Given the description of an element on the screen output the (x, y) to click on. 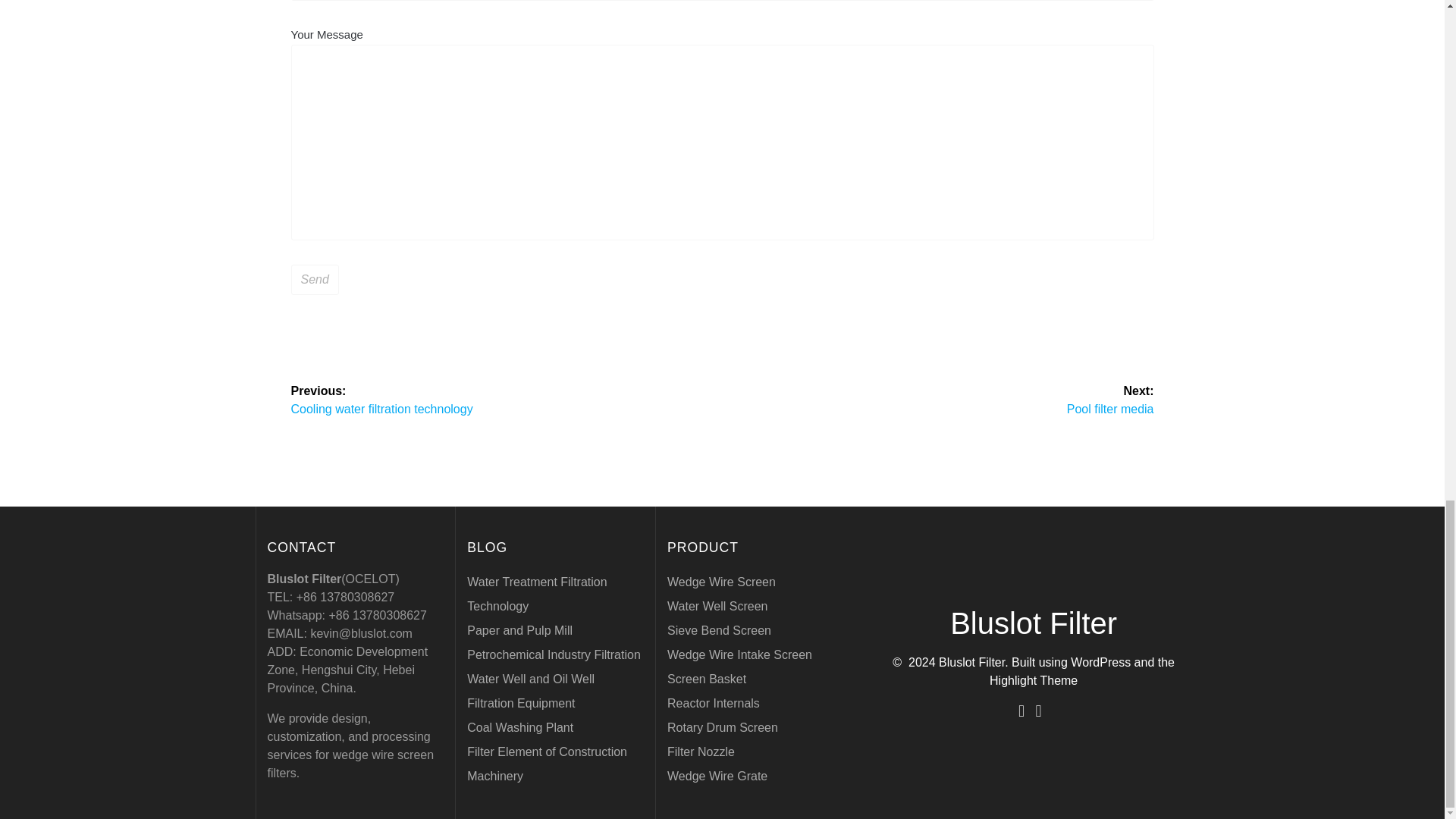
Coal Washing Plant (520, 727)
Water Well and Oil Well (530, 678)
Petrochemical Industry Filtration (553, 654)
Water Treatment Filtration (537, 581)
Filter Element of Construction Machinery (547, 763)
Wedge Wire Grate (501, 398)
Filter Nozzle (716, 775)
Screen Basket (700, 751)
Wedge Wire Intake Screen (705, 678)
